Given the description of an element on the screen output the (x, y) to click on. 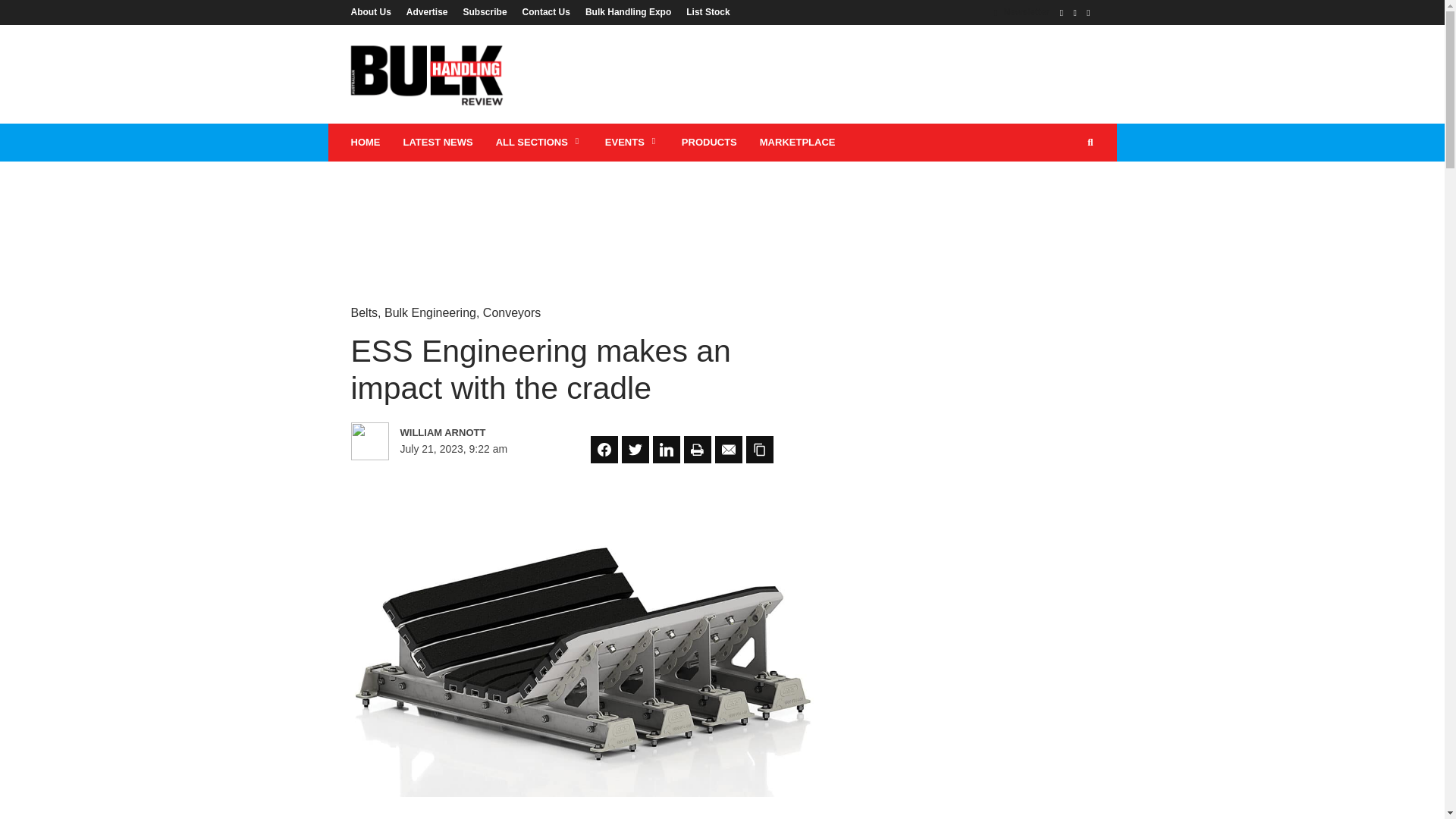
LATEST NEWS (437, 142)
Subscribe (485, 11)
Advertise (426, 11)
Share on Twitter (635, 449)
About Us (373, 11)
List Stock (703, 11)
Newsletter (1021, 11)
Share on LinkedIn (665, 449)
Share on Email (728, 449)
3rd party ad content (721, 210)
